Given the description of an element on the screen output the (x, y) to click on. 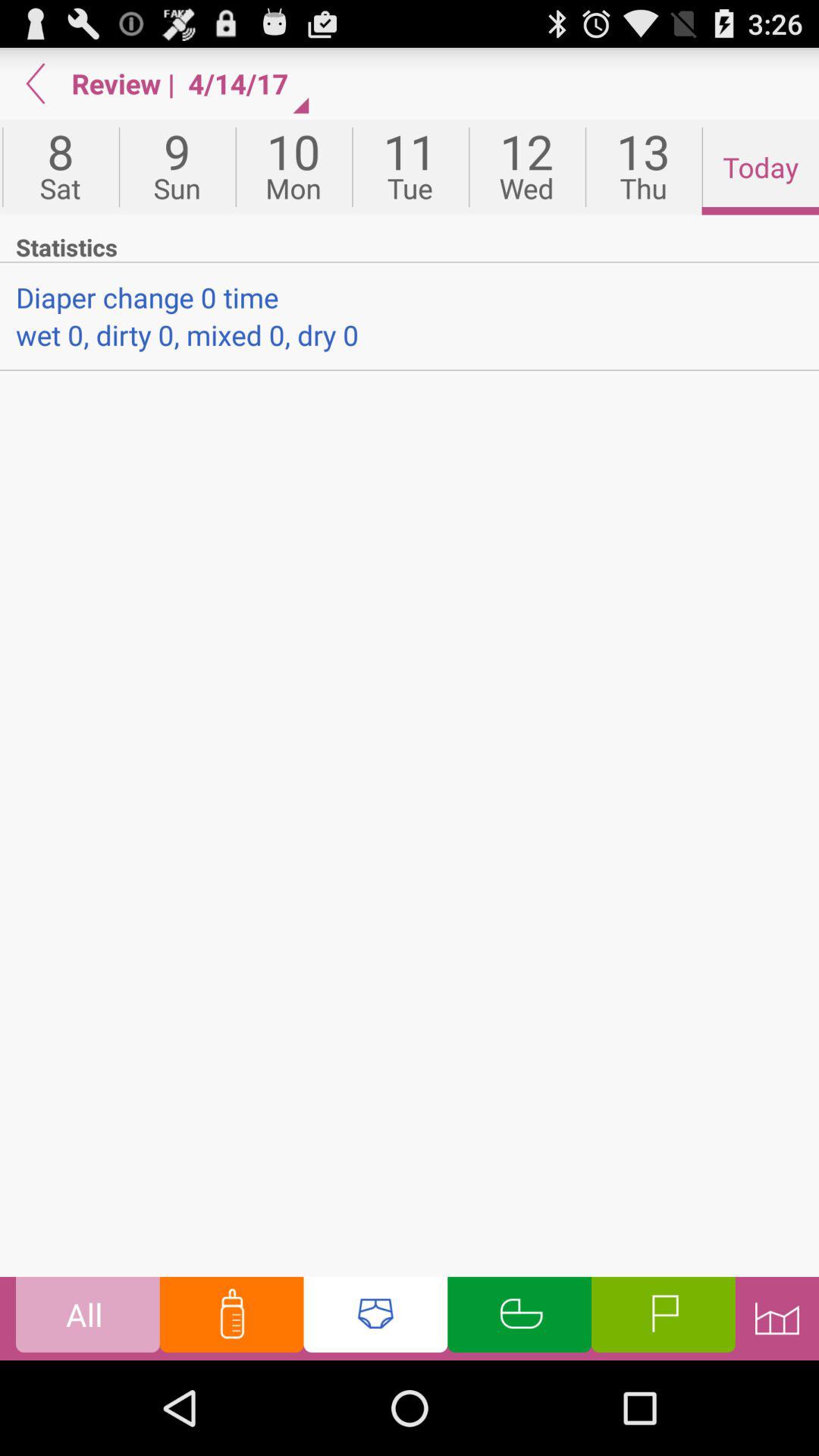
open the item below statistics app (409, 297)
